Given the description of an element on the screen output the (x, y) to click on. 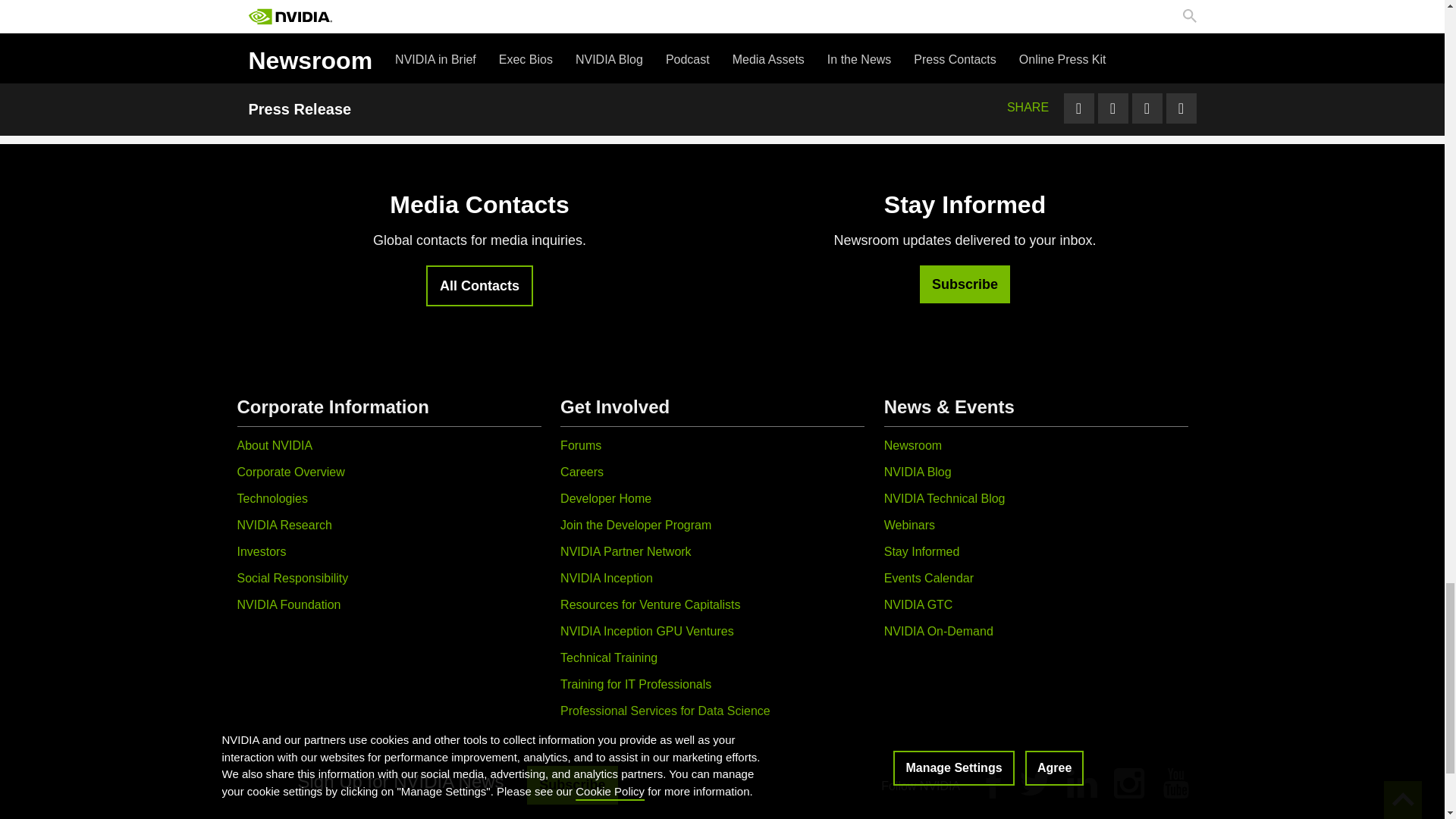
LinkedIn (1082, 783)
Twitter (1034, 783)
Instagram (1128, 783)
Facebook (993, 783)
YouTube (1175, 783)
